Given the description of an element on the screen output the (x, y) to click on. 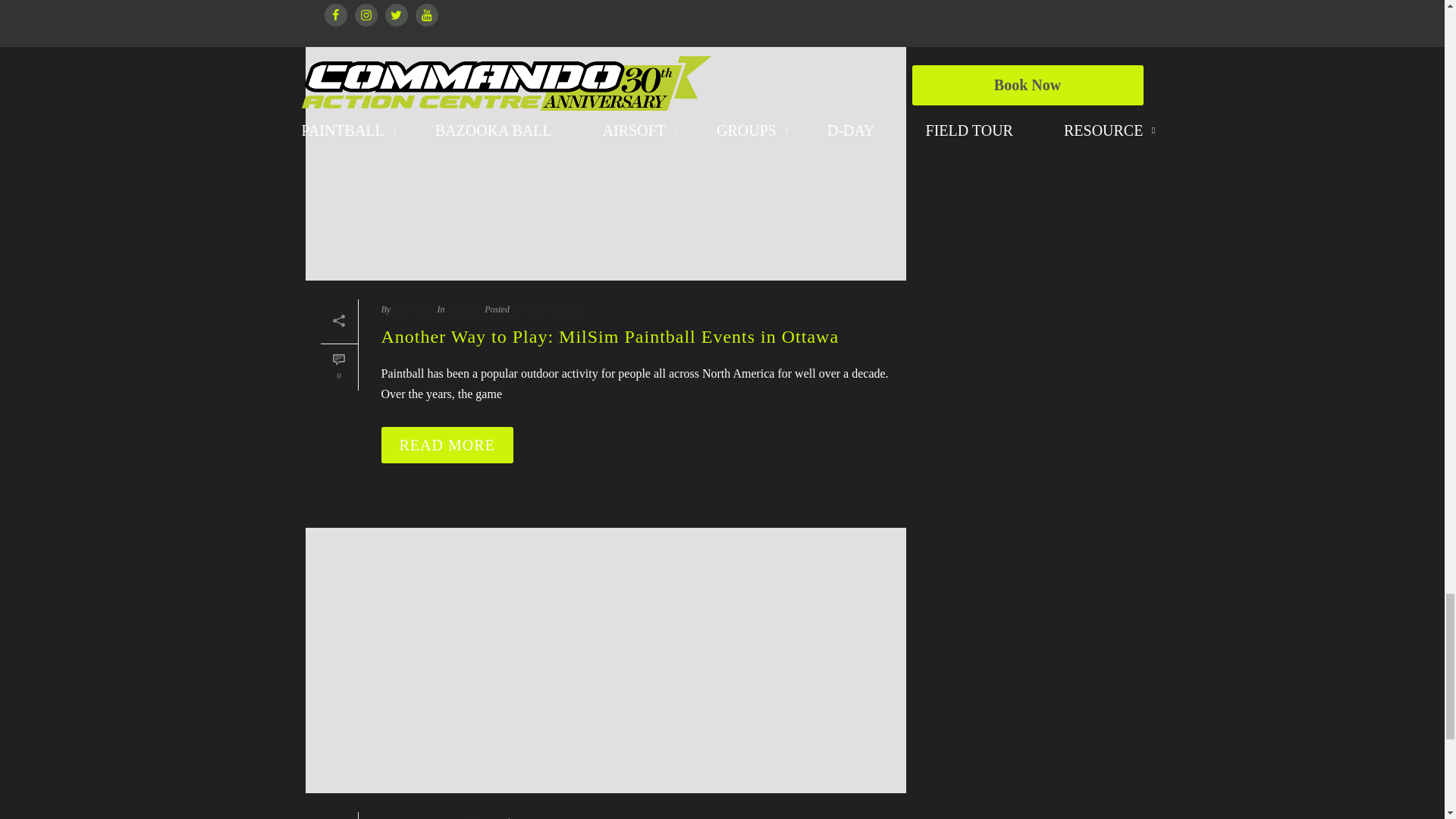
READ MORE (446, 444)
